Given the description of an element on the screen output the (x, y) to click on. 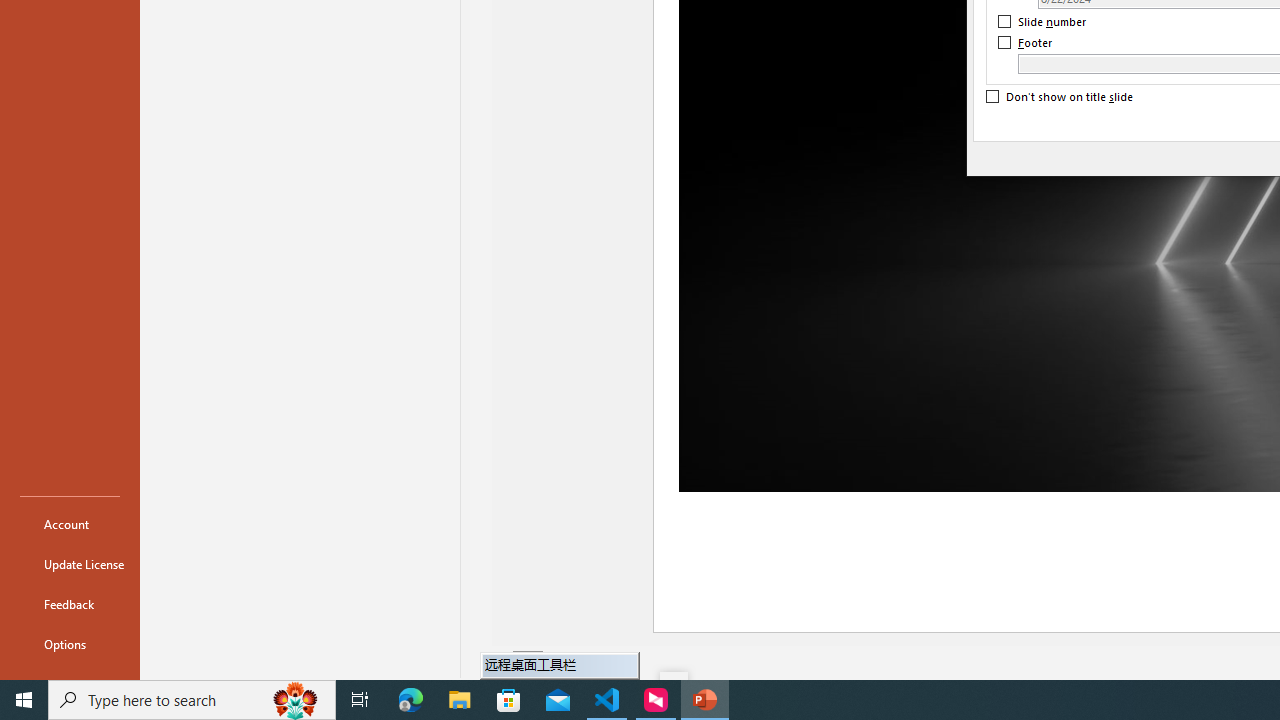
Options (69, 643)
Microsoft Edge (411, 699)
Slide number (1043, 21)
Current Page (527, 662)
Footer (1025, 43)
Don't show on title slide (1060, 97)
Feedback (69, 603)
Update License (69, 563)
Previous Page (502, 662)
